Given the description of an element on the screen output the (x, y) to click on. 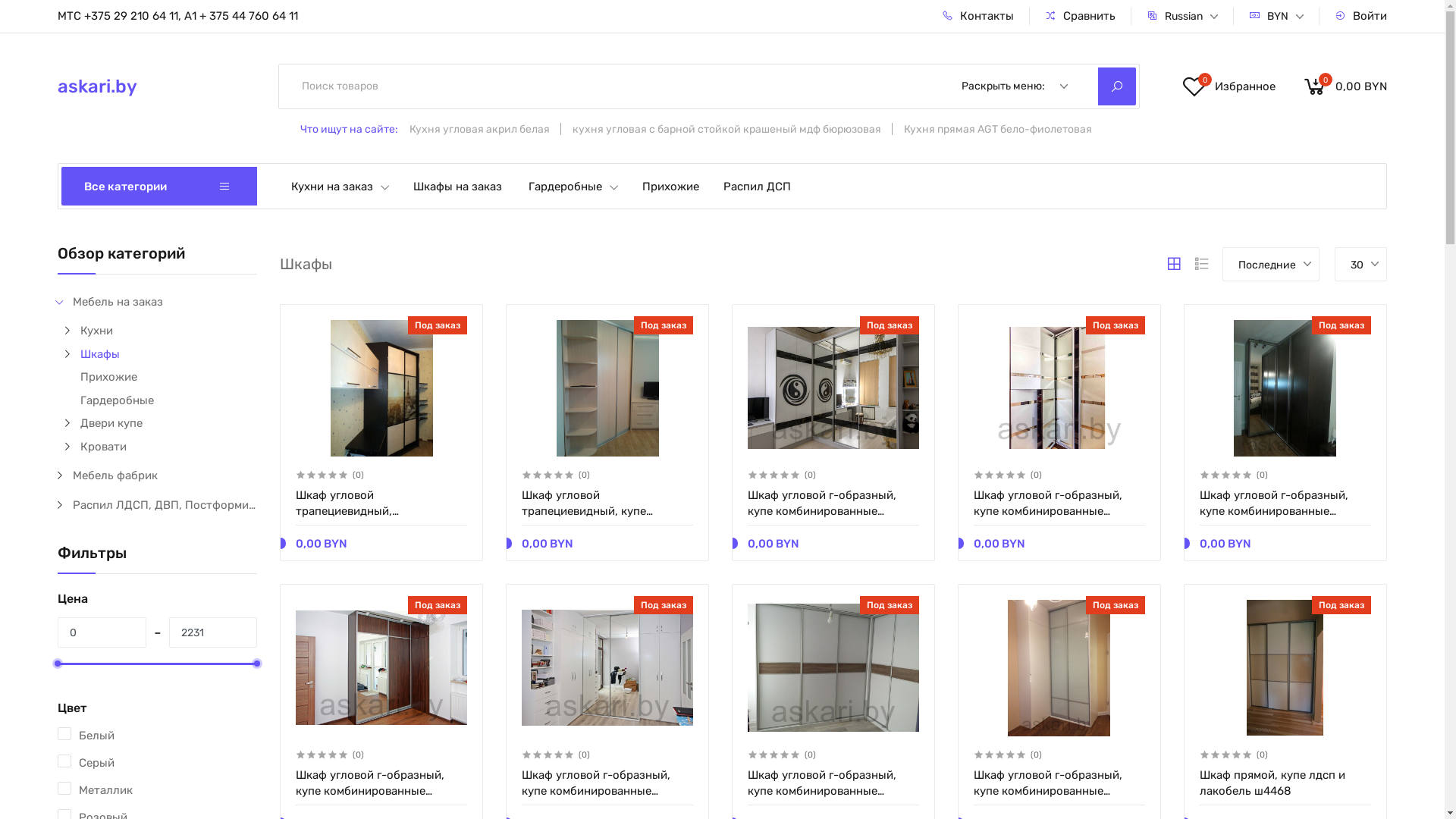
askari.by Element type: text (146, 86)
